Given the description of an element on the screen output the (x, y) to click on. 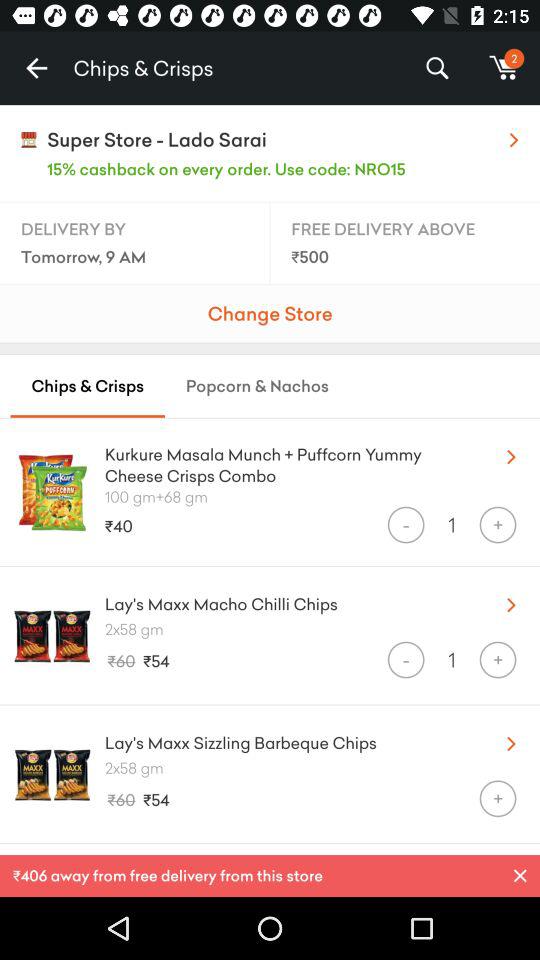
press item to the right of 406 away from icon (520, 875)
